Given the description of an element on the screen output the (x, y) to click on. 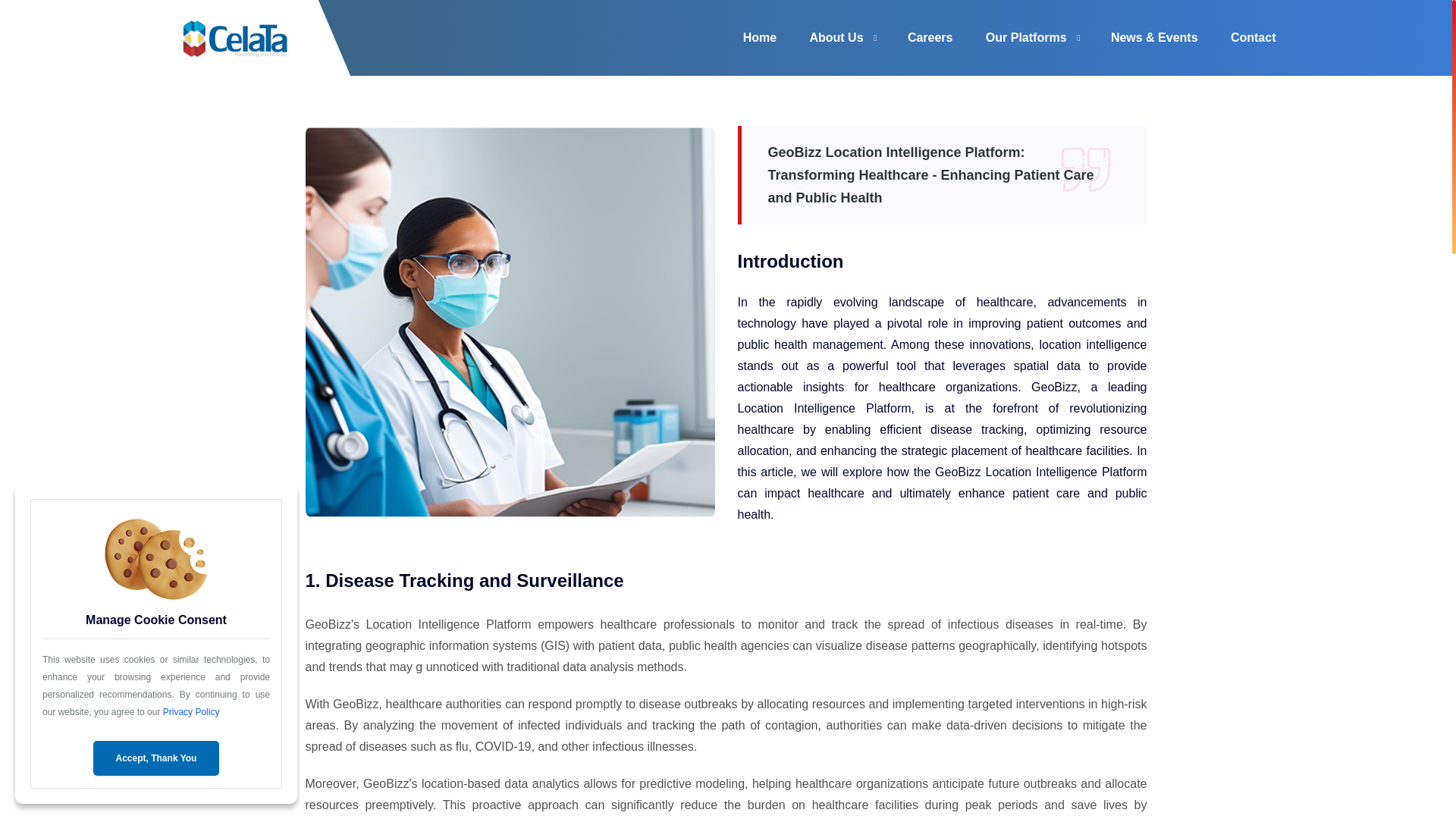
Accept, Thank You (156, 758)
Contact (1253, 37)
About Us (836, 37)
Our Platforms (1026, 37)
Careers (930, 37)
Home (759, 37)
Privacy Policy (191, 711)
